Given the description of an element on the screen output the (x, y) to click on. 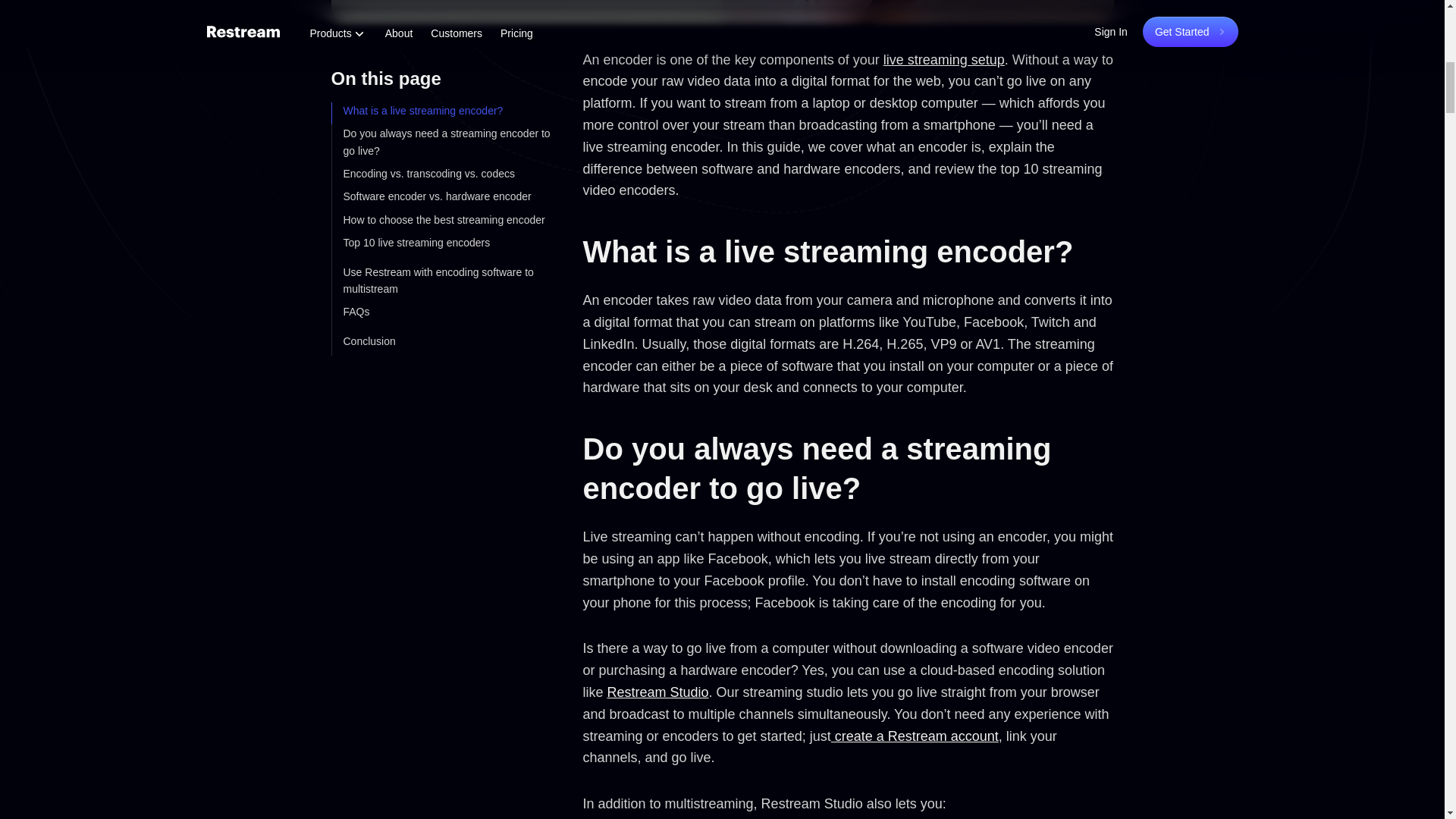
Restream Studio (658, 692)
Encoding vs. transcoding vs. codecs (427, 155)
FAQs (355, 294)
Top 10 live streaming encoders (415, 224)
create a Restream account (914, 735)
How to choose the best streaming encoder (443, 202)
What is a live streaming encoder? (422, 92)
live streaming setup (943, 59)
Software encoder vs. hardware encoder (436, 178)
Conclusion (368, 323)
